Given the description of an element on the screen output the (x, y) to click on. 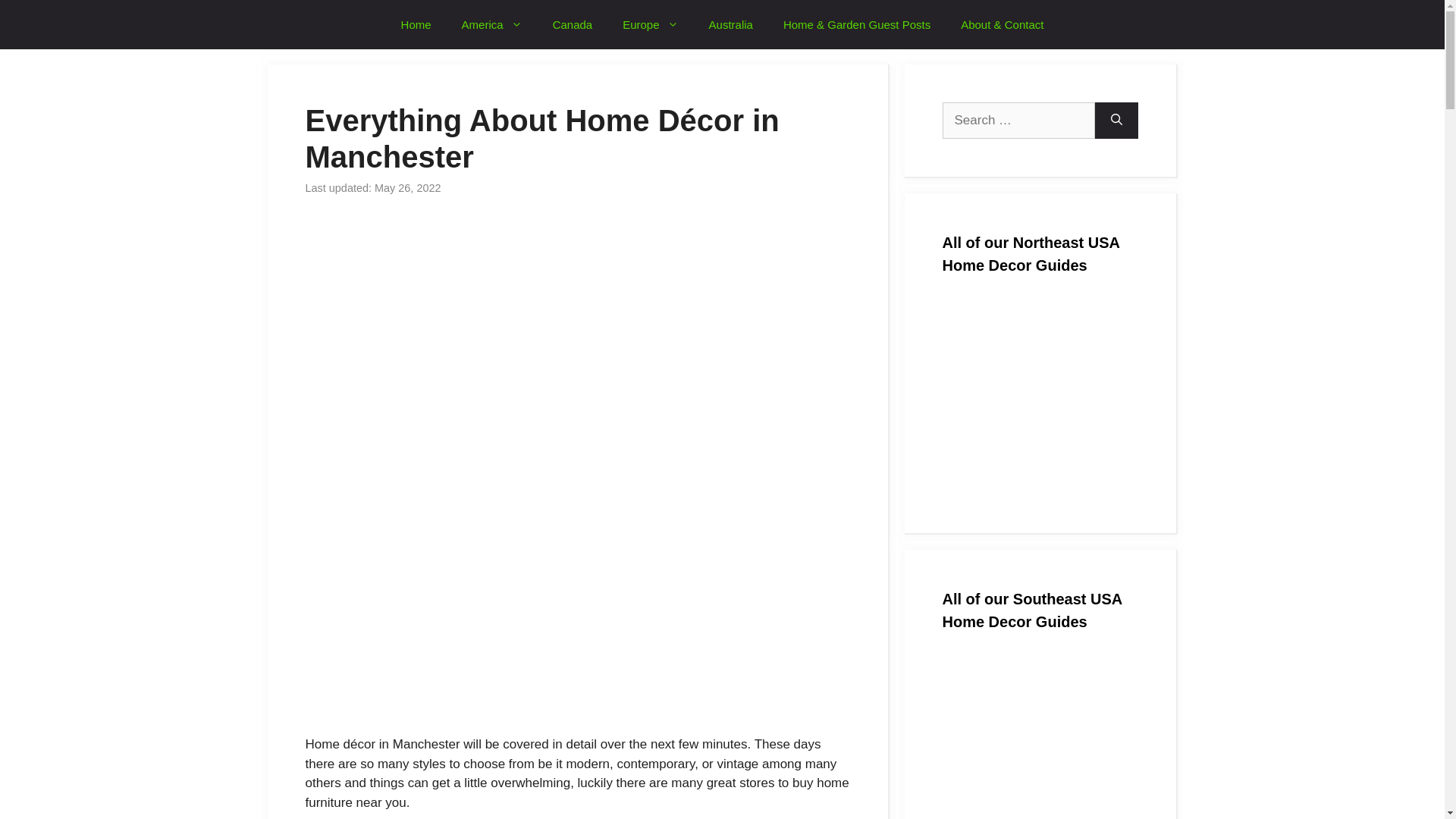
All of our Northeast USA Home Decor Guides (1039, 396)
All of our Southeast USA Home Decor Guides (1039, 737)
Australia (731, 24)
Home (415, 24)
America (491, 24)
Canada (572, 24)
Search for: (1018, 120)
Europe (650, 24)
